Given the description of an element on the screen output the (x, y) to click on. 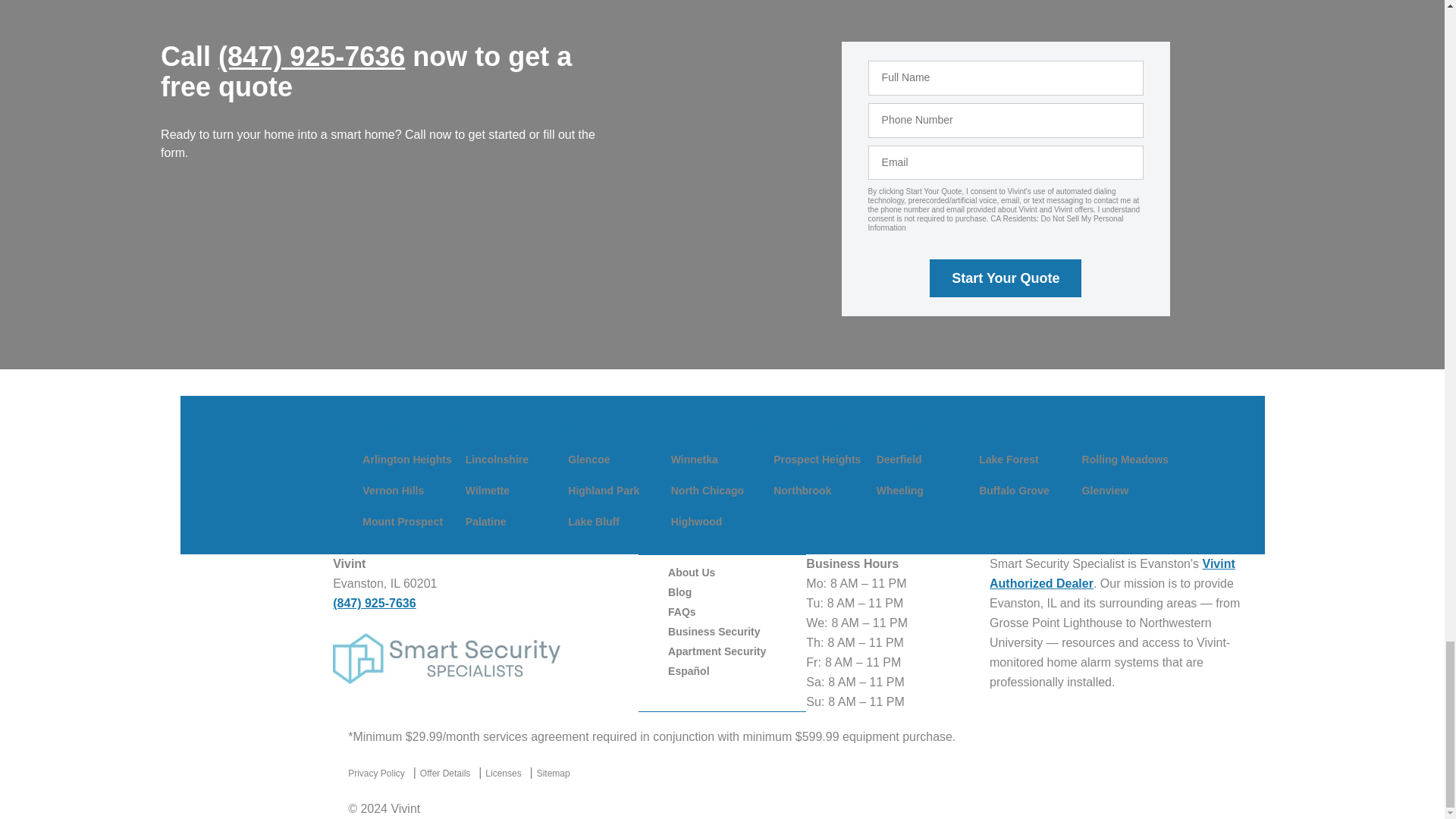
Arlington Heights (406, 459)
Lincolnshire (496, 459)
Start Your Quote (1005, 278)
Start Your Quote (1005, 278)
Glencoe (588, 459)
